Given the description of an element on the screen output the (x, y) to click on. 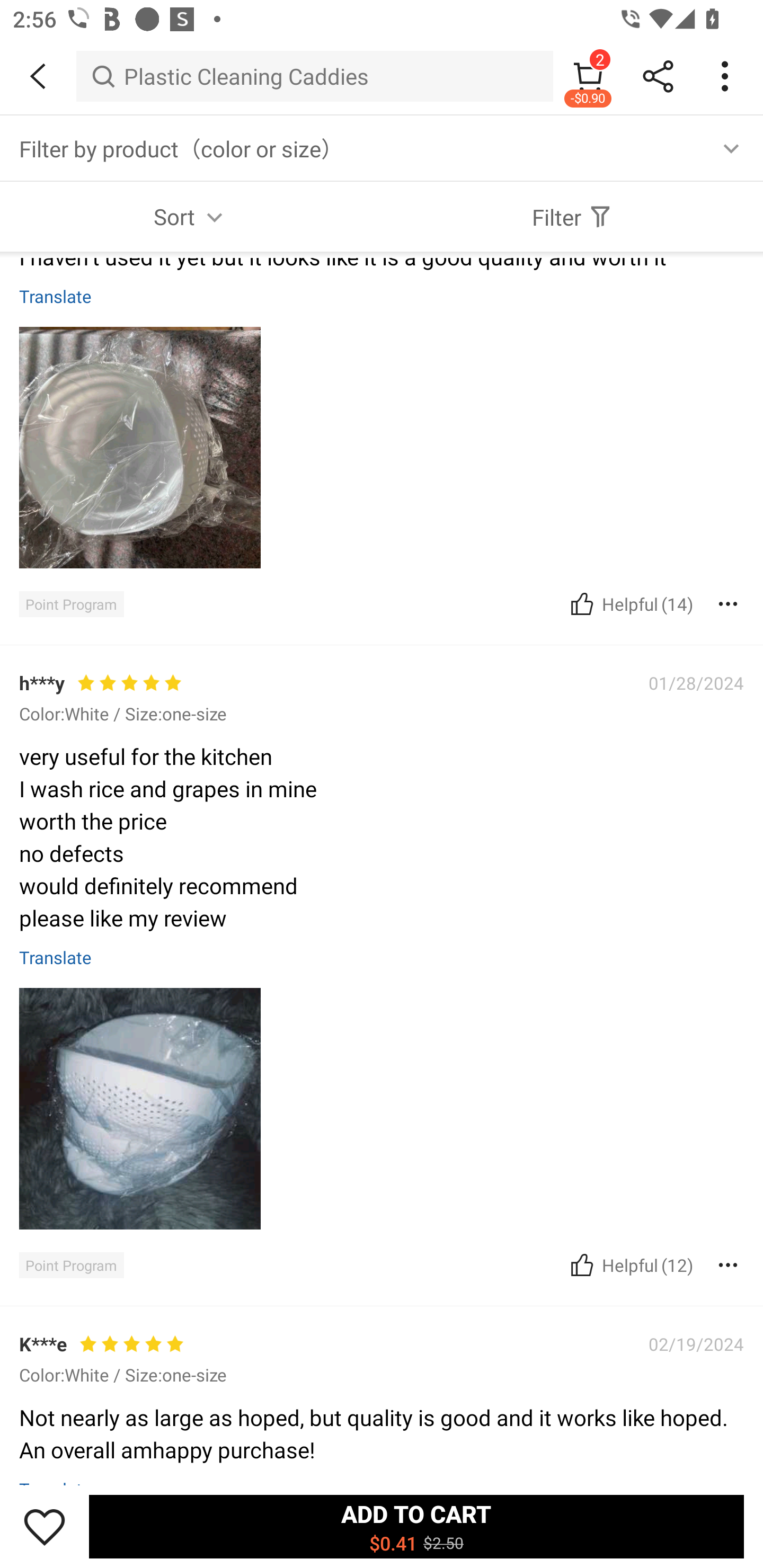
BACK (38, 75)
2 -$0.90 (588, 75)
Plastic Cleaning Caddies (314, 75)
Filter by product（color or size） (381, 148)
Sort (190, 215)
Filter (572, 215)
Translate (55, 295)
Cancel Helpful Was this article helpful? (14) (629, 603)
Point Program (71, 604)
Translate (55, 957)
Cancel Helpful Was this article helpful? (12) (629, 1265)
Point Program (71, 1264)
ADD TO CART $0.41 $2.50 (416, 1526)
Save (44, 1526)
